Given the description of an element on the screen output the (x, y) to click on. 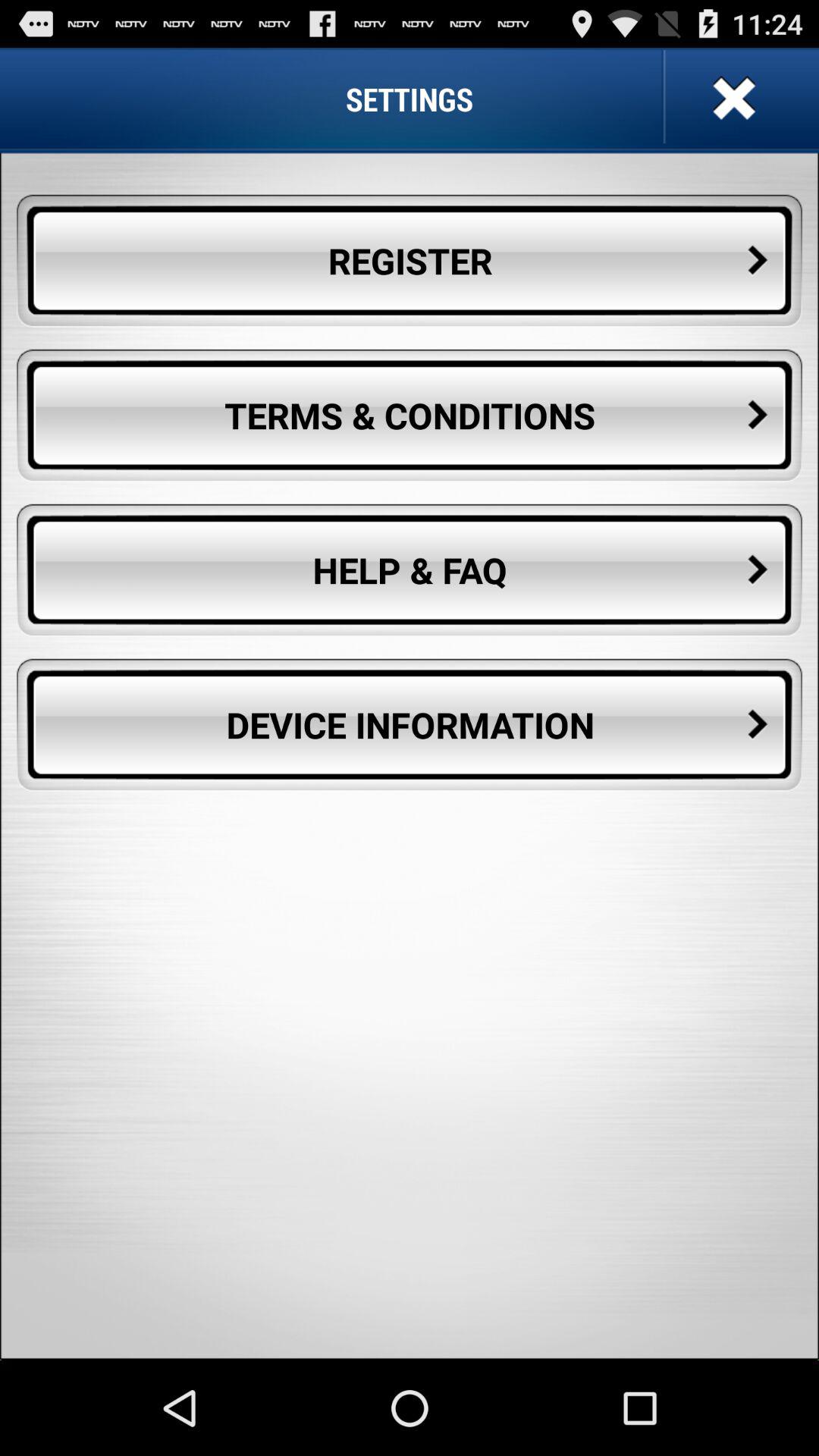
open device information (409, 724)
